Given the description of an element on the screen output the (x, y) to click on. 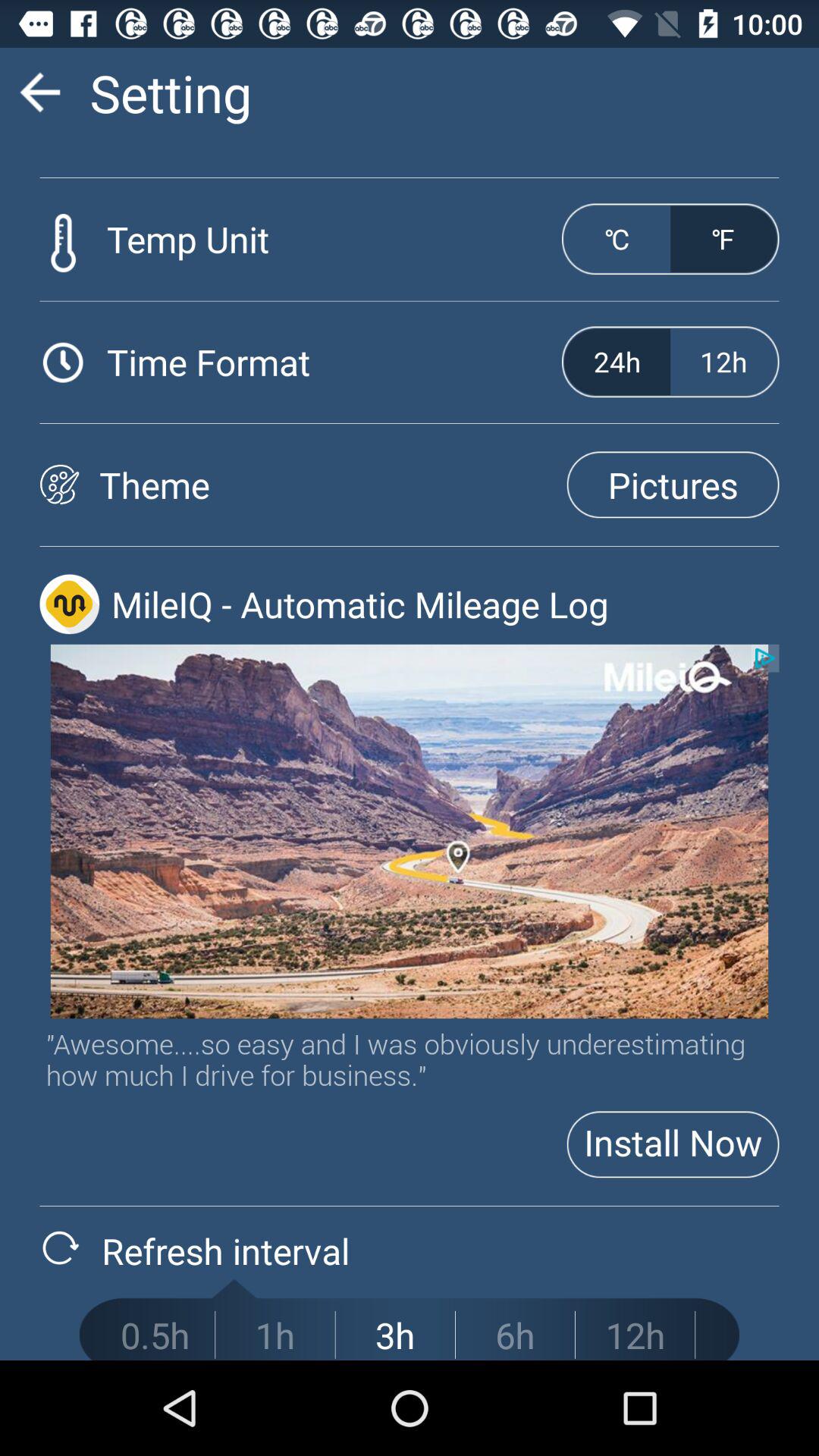
select item to the right of the 3h (515, 1334)
